Given the description of an element on the screen output the (x, y) to click on. 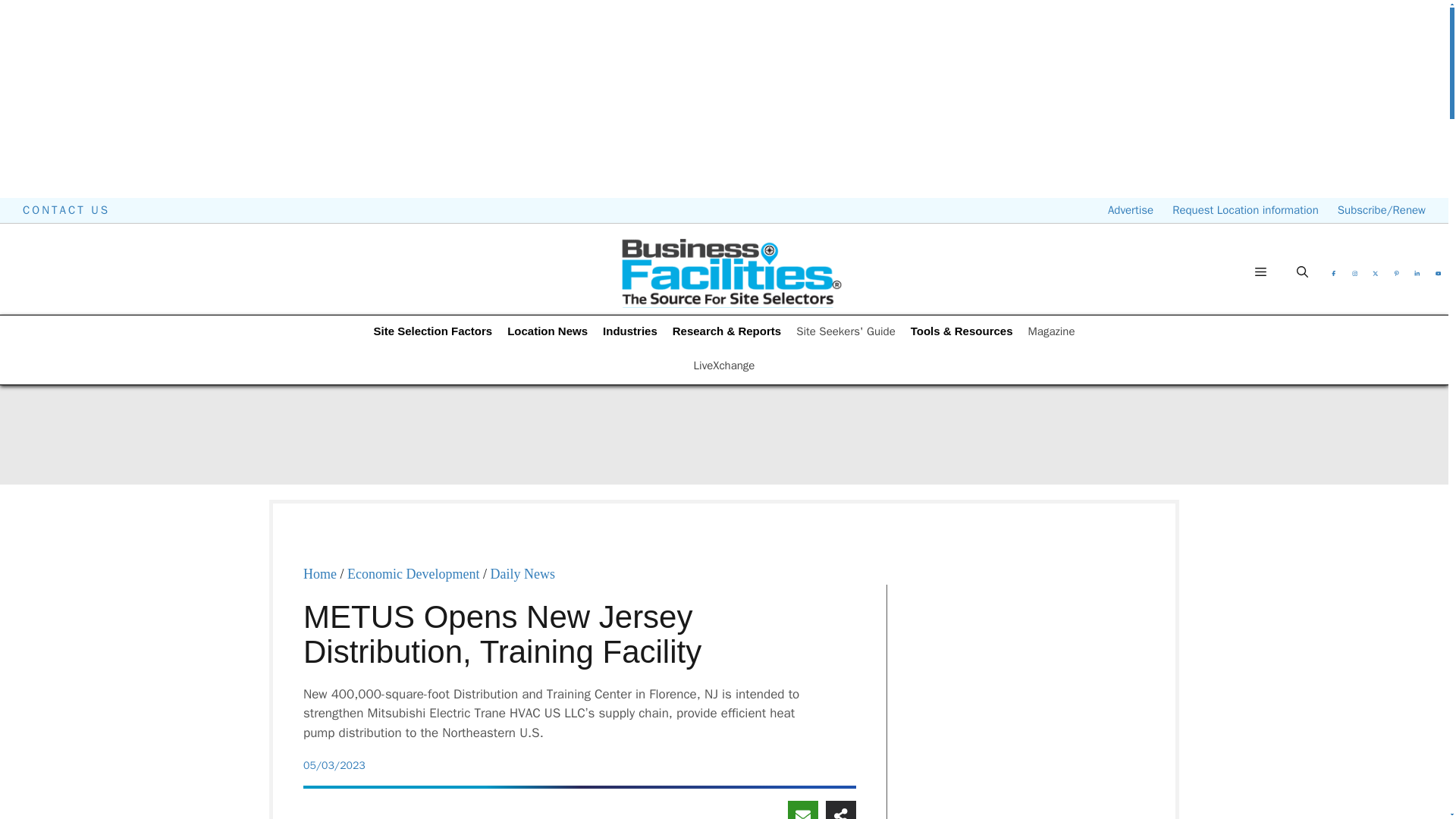
3rd party ad content (1030, 686)
3rd party ad content (1079, 259)
Site Selection Factors (432, 332)
Request Location information (1245, 210)
Advertise (1130, 210)
3rd party ad content (1031, 817)
Business Facilities Magazine (731, 272)
3rd party ad content (724, 777)
3rd party ad content (724, 434)
CONTACT US (66, 210)
